Given the description of an element on the screen output the (x, y) to click on. 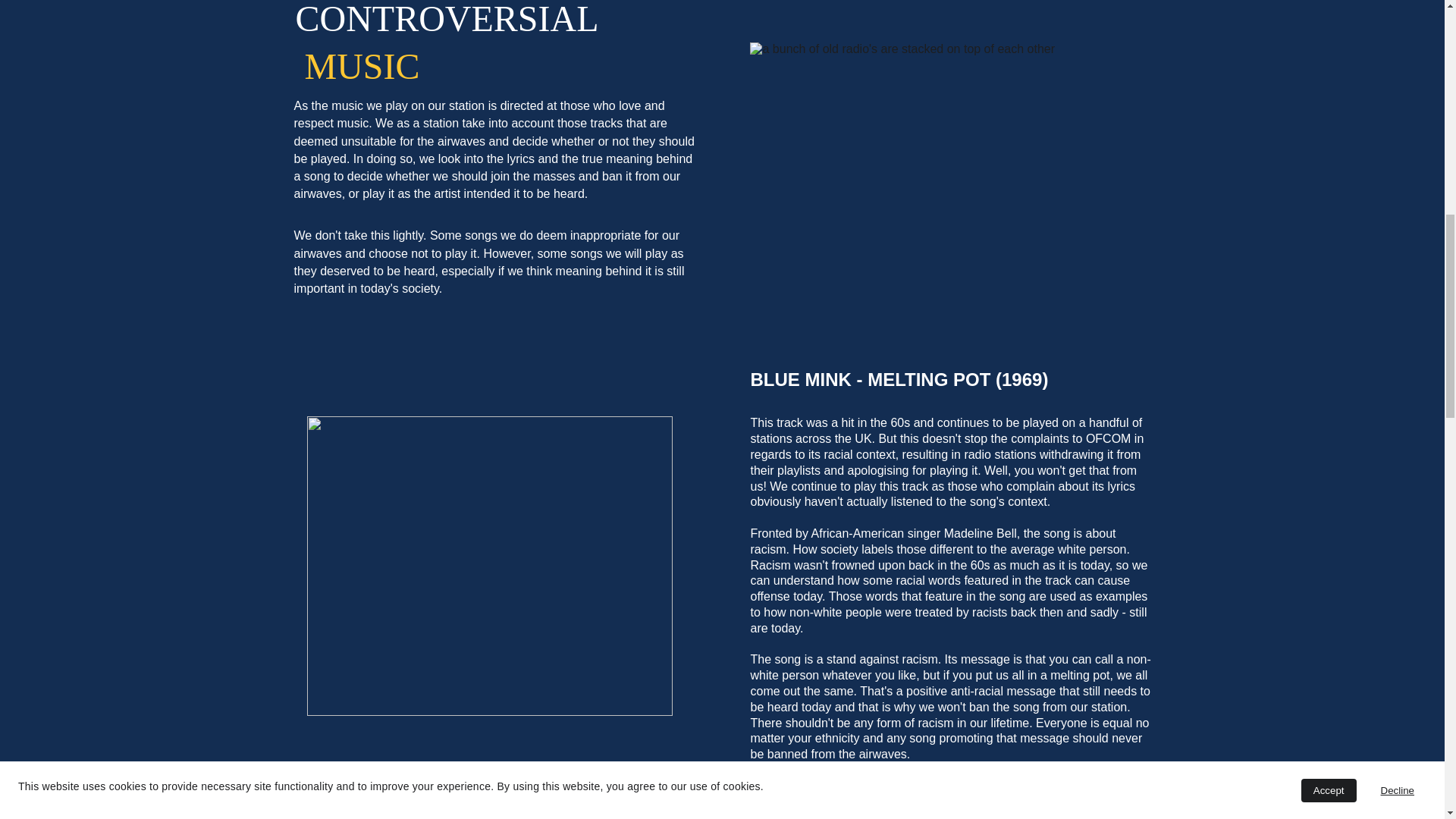
a bunch of old radio's are stacked on top of each other (953, 178)
